Given the description of an element on the screen output the (x, y) to click on. 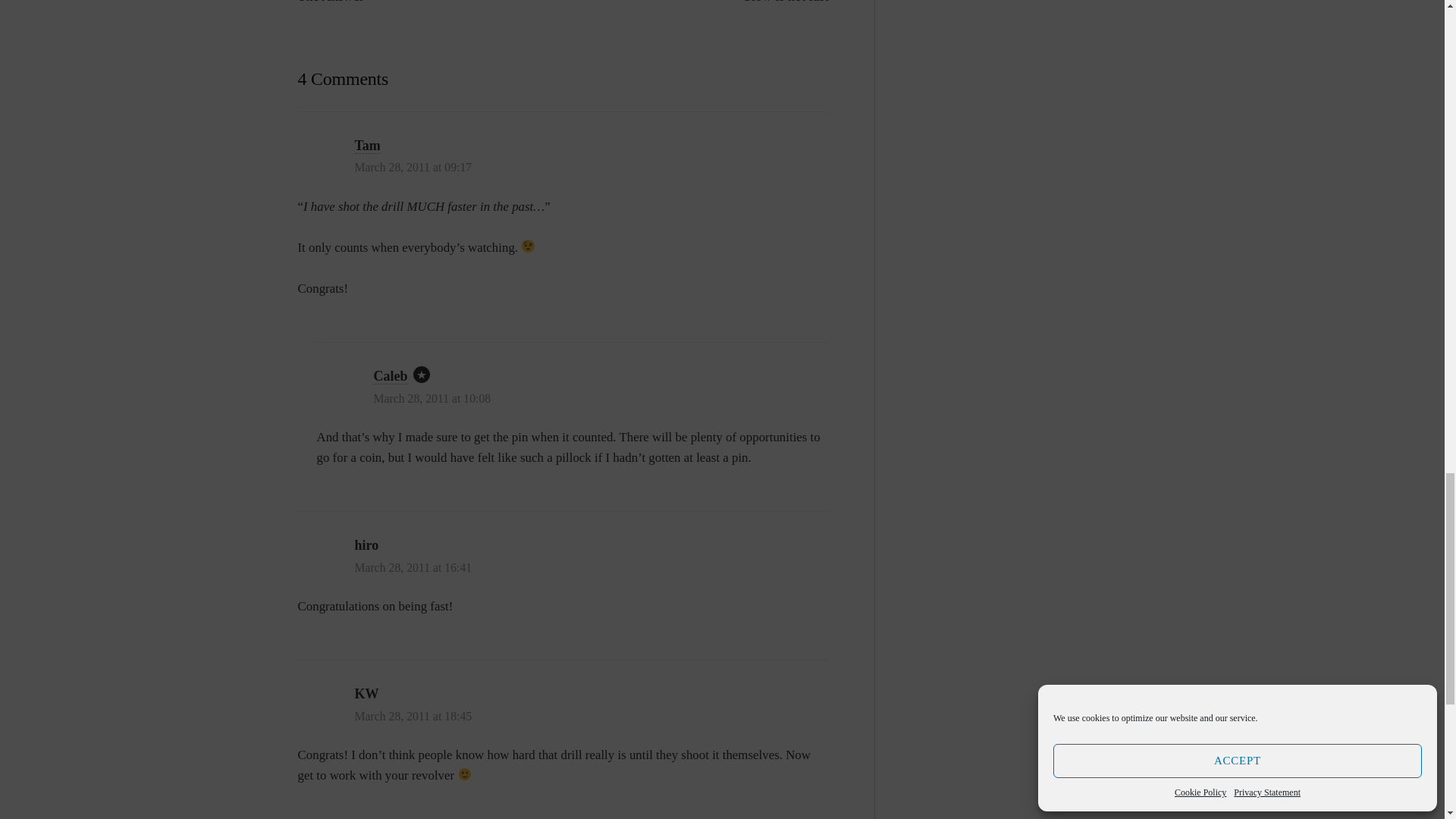
The Answer (329, 2)
